Given the description of an element on the screen output the (x, y) to click on. 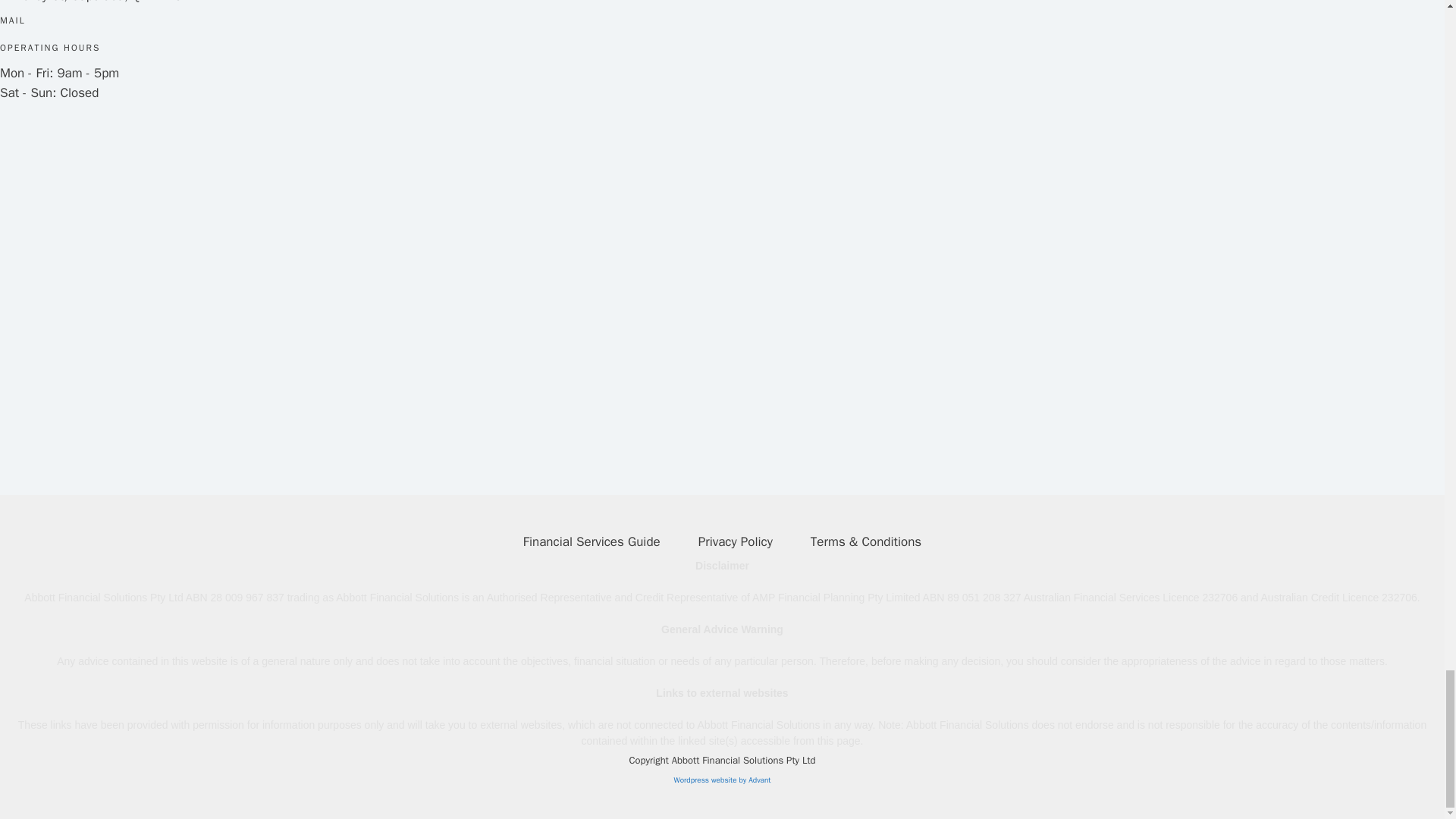
Financial Services Guide (591, 541)
Wordpress website by Advant (721, 779)
Privacy Policy (734, 541)
2 Rickey St, Capalaba, QLD 4157 (128, 276)
